Given the description of an element on the screen output the (x, y) to click on. 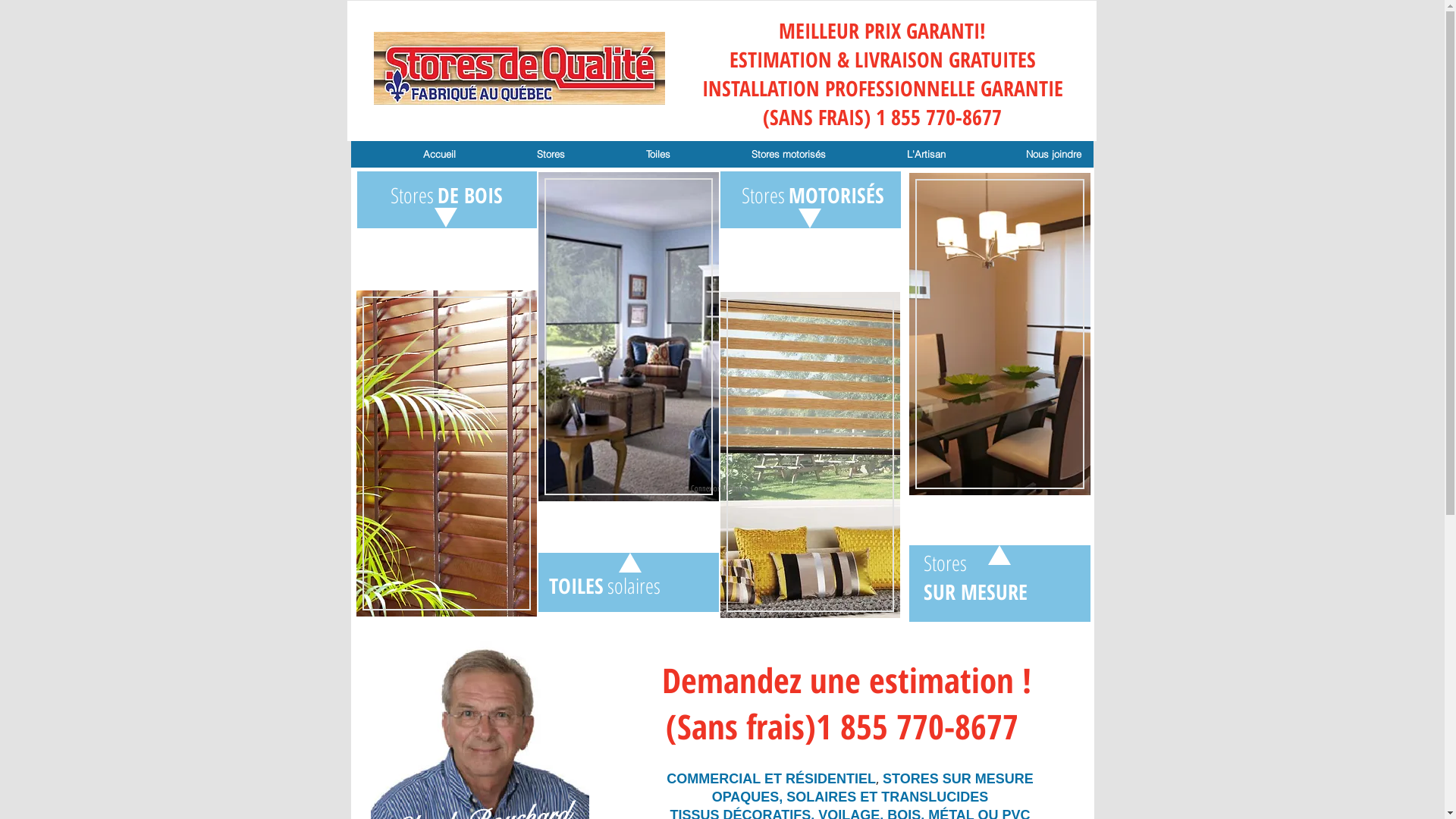
Embedded Content Element type: hover (792, 540)
Nous joindre Element type: text (1023, 153)
stores de bois.jpg Element type: hover (446, 453)
toile-solaire-modele.jpg Element type: hover (628, 336)
panneaux coulissants.jpg Element type: hover (998, 333)
Connexion Webmaster Element type: text (721, 487)
store-horizontal-de-voilage.jpg Element type: hover (810, 454)
Toiles Element type: text (627, 153)
Accueil Element type: text (408, 153)
L'Artisan Element type: text (895, 153)
Stores Element type: text (519, 153)
